Given the description of an element on the screen output the (x, y) to click on. 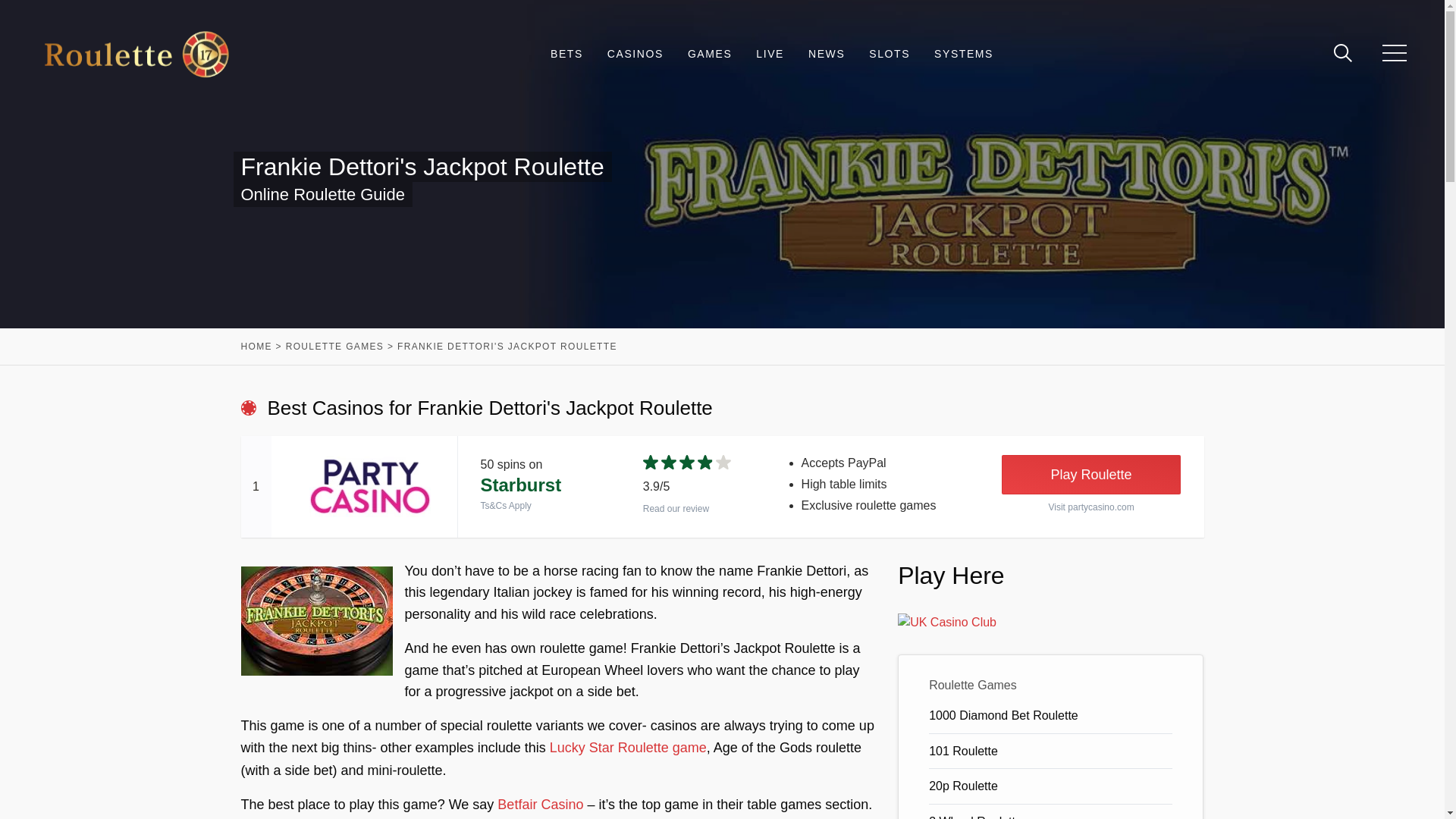
LIVE (769, 54)
UK Casino Club (946, 621)
SYSTEMS (963, 54)
Search (1330, 54)
NEWS (826, 54)
SLOTS (889, 54)
Additional Menu (1393, 54)
Go to the homepage (135, 53)
BETS (566, 54)
GAMES (709, 54)
HOME (256, 346)
CASINOS (635, 54)
